Given the description of an element on the screen output the (x, y) to click on. 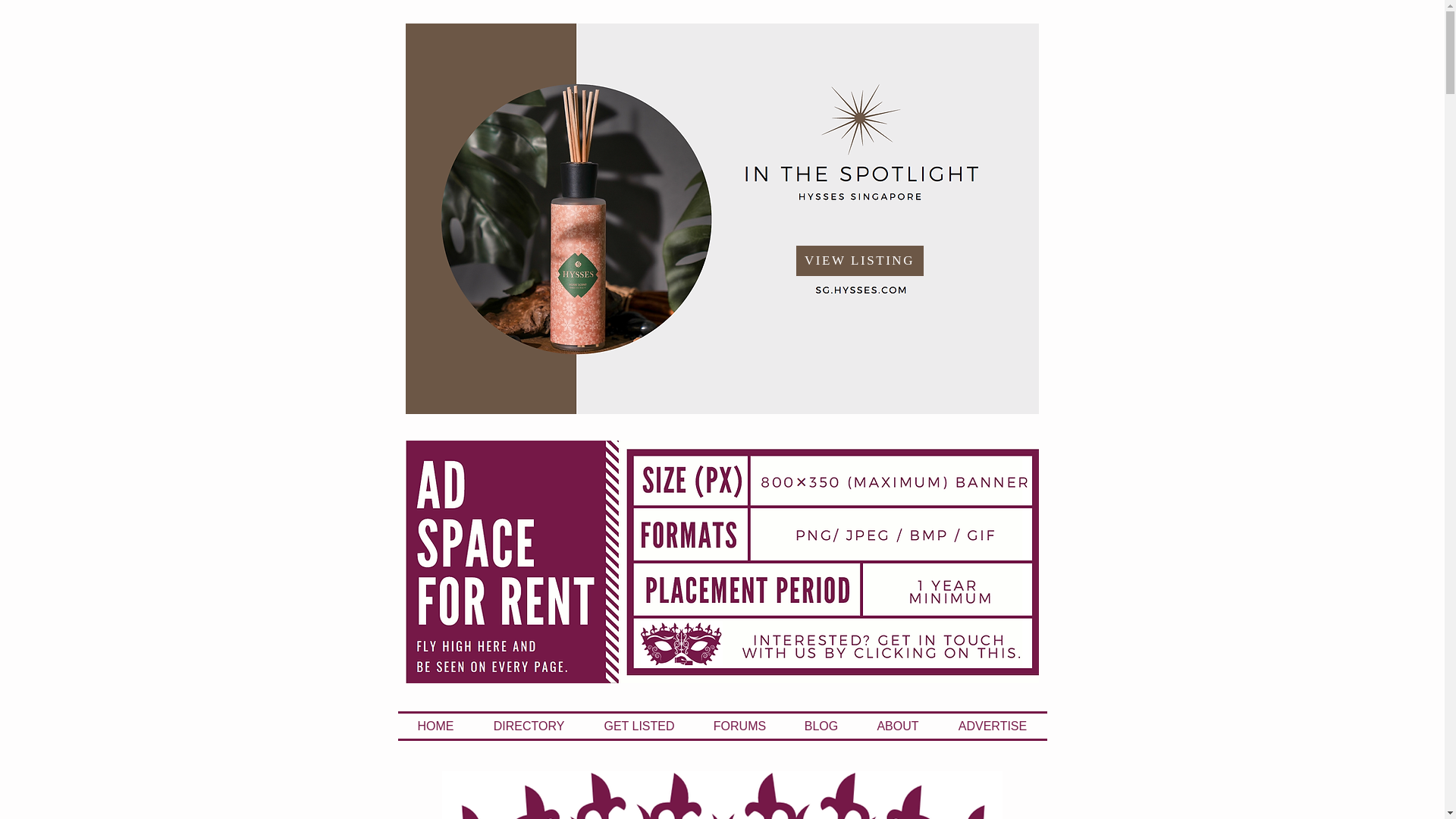
VIEW LISTING (859, 260)
ABOUT (897, 725)
BLOG (821, 725)
FORUMS (740, 725)
DIRECTORY (528, 725)
HOME (435, 725)
ADVERTISE (992, 725)
GET LISTED (638, 725)
